Given the description of an element on the screen output the (x, y) to click on. 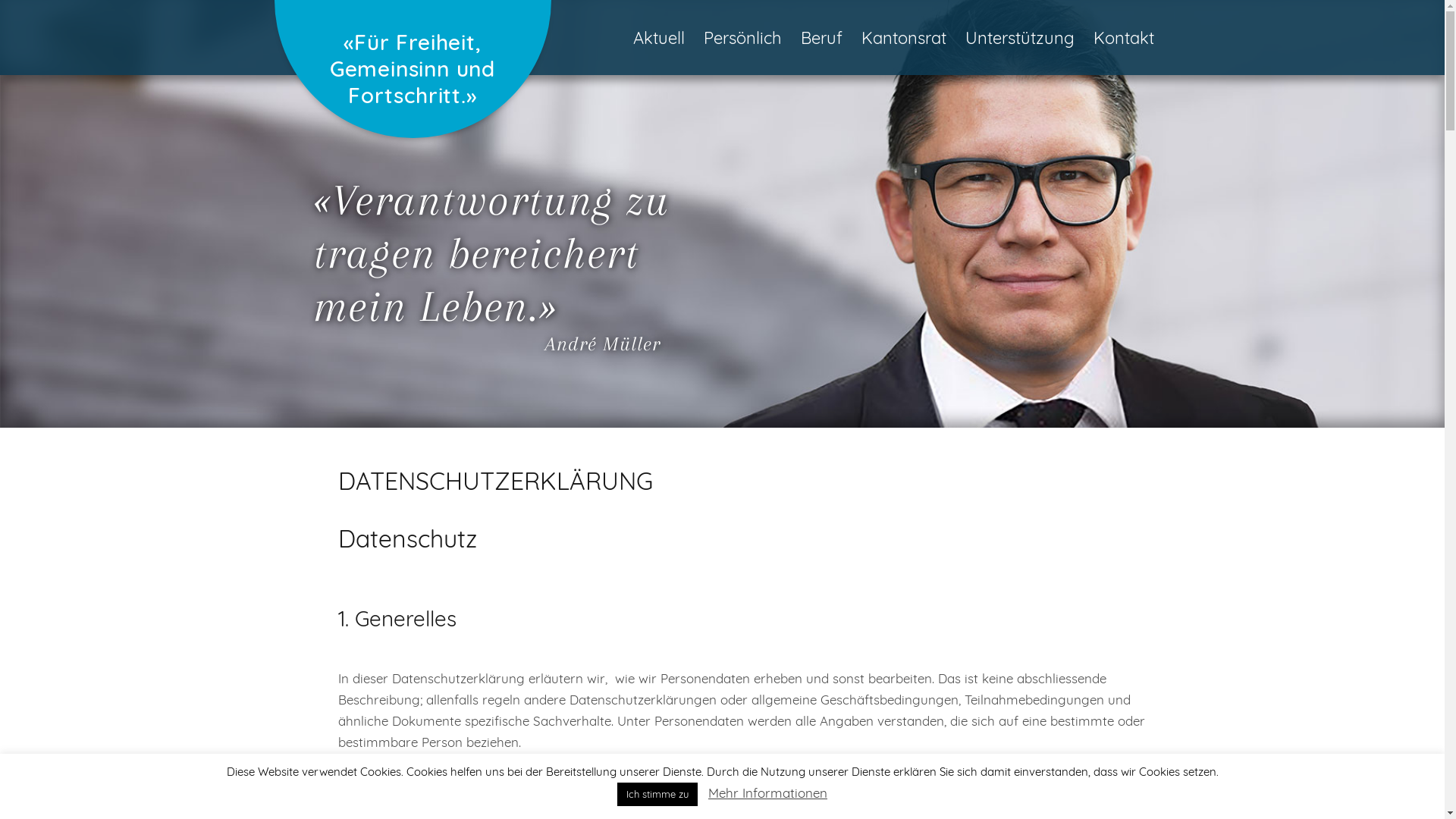
Beruf Element type: text (821, 37)
Kantonsrat Element type: text (903, 37)
Aktuell Element type: text (658, 37)
Kontakt Element type: text (1123, 37)
Ich stimme zu Element type: text (657, 794)
Mehr Informationen Element type: text (767, 792)
